Given the description of an element on the screen output the (x, y) to click on. 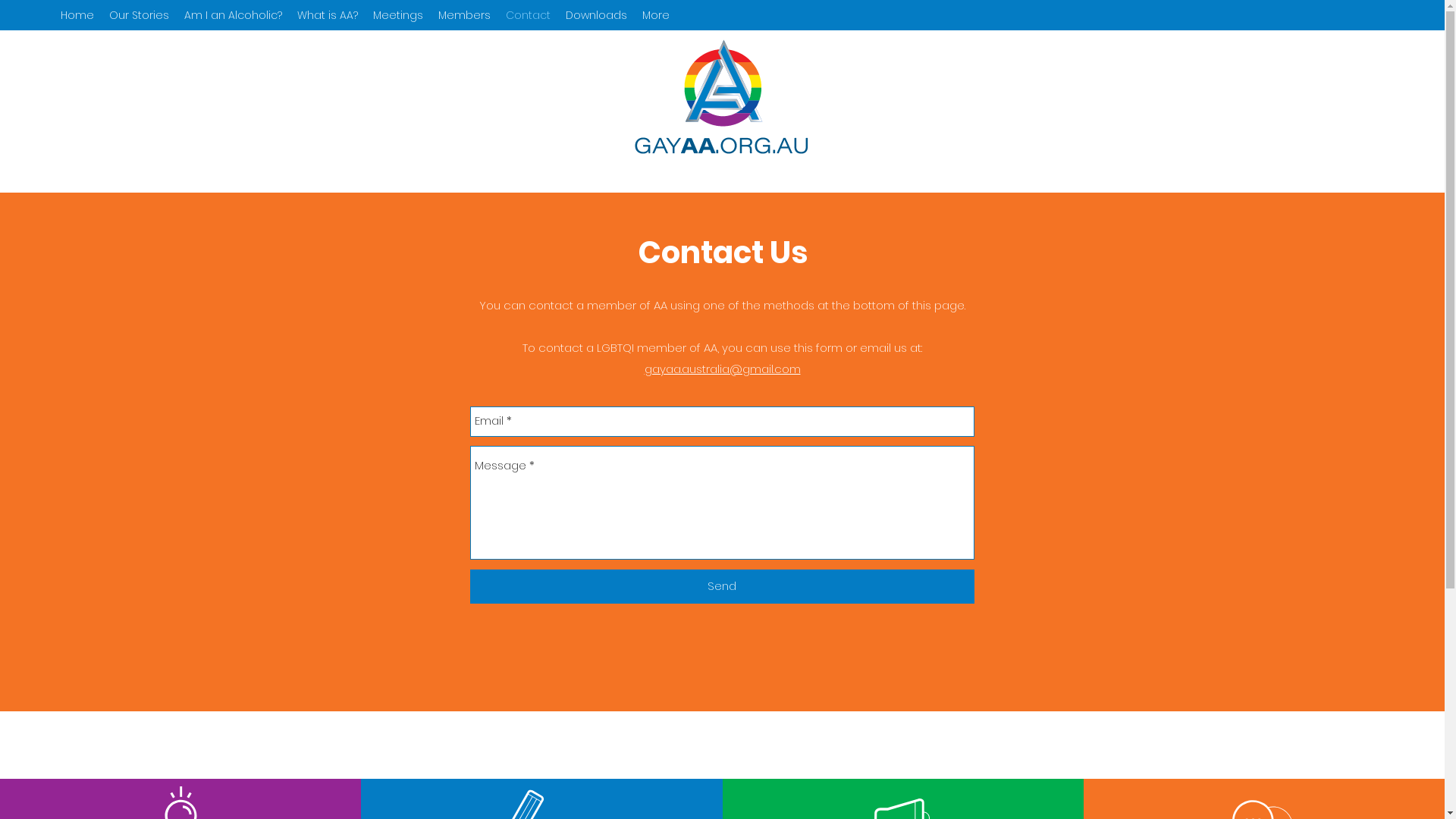
Meetings Element type: text (397, 14)
Send Element type: text (722, 585)
Am I an Alcoholic? Element type: text (232, 14)
Home Element type: text (77, 14)
Downloads Element type: text (596, 14)
Our Stories Element type: text (138, 14)
What is AA? Element type: text (327, 14)
Members Element type: text (464, 14)
gayaa.australia@gmail.com Element type: text (722, 368)
Contact Element type: text (528, 14)
